Given the description of an element on the screen output the (x, y) to click on. 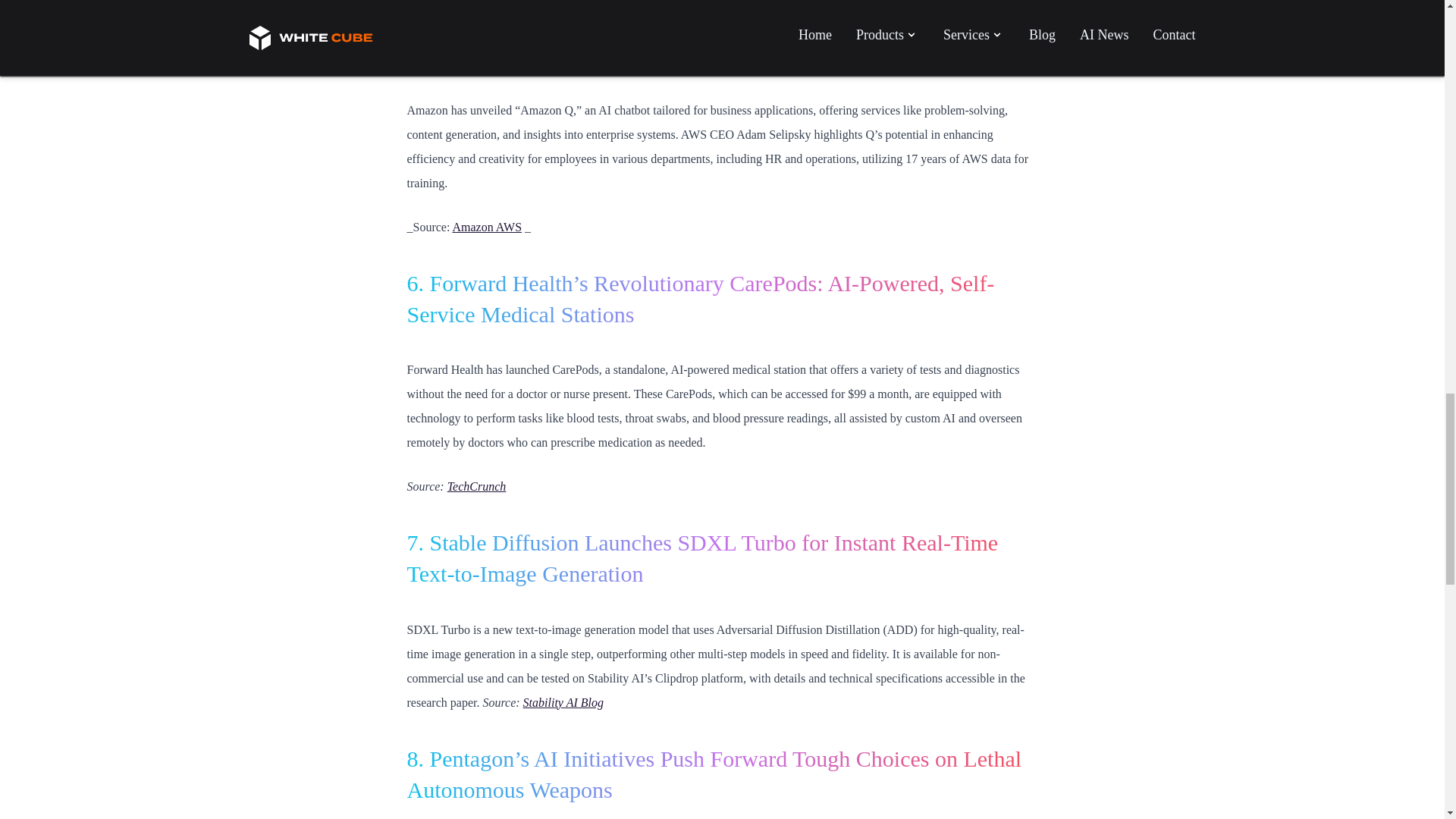
Amazon AWS (486, 226)
Stability AI Blog (563, 702)
TechCrunch (476, 486)
